Given the description of an element on the screen output the (x, y) to click on. 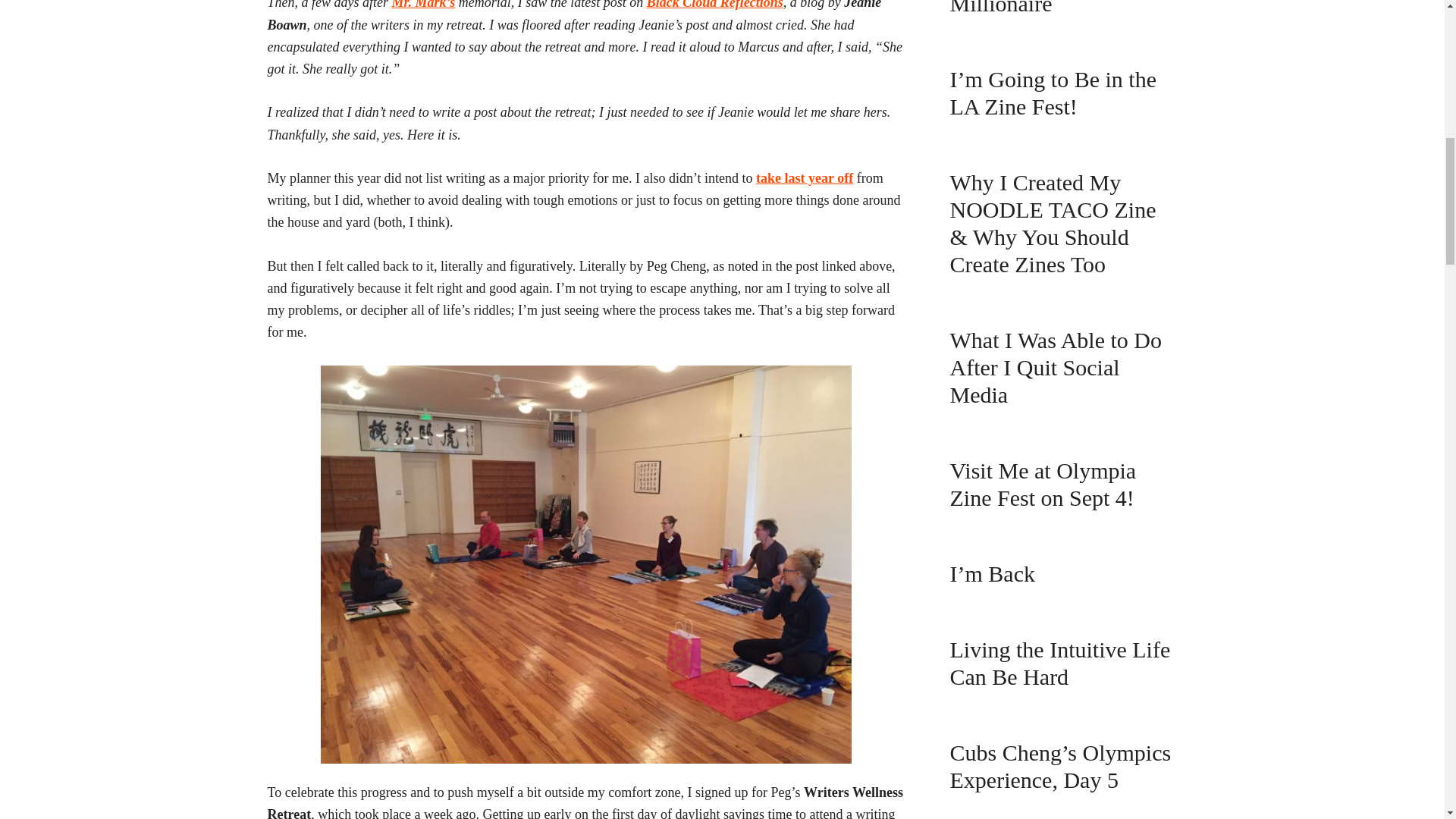
What I Was Able to Do After I Quit Social Media (1054, 367)
Black Cloud Reflections (714, 4)
Living the Intuitive Life Can Be Hard (1059, 663)
How a Blue Butterfly Helped Me Write Rebel Millionaire (1057, 7)
Visit Me at Olympia Zine Fest on Sept 4! (1042, 483)
take last year off (804, 177)
